Given the description of an element on the screen output the (x, y) to click on. 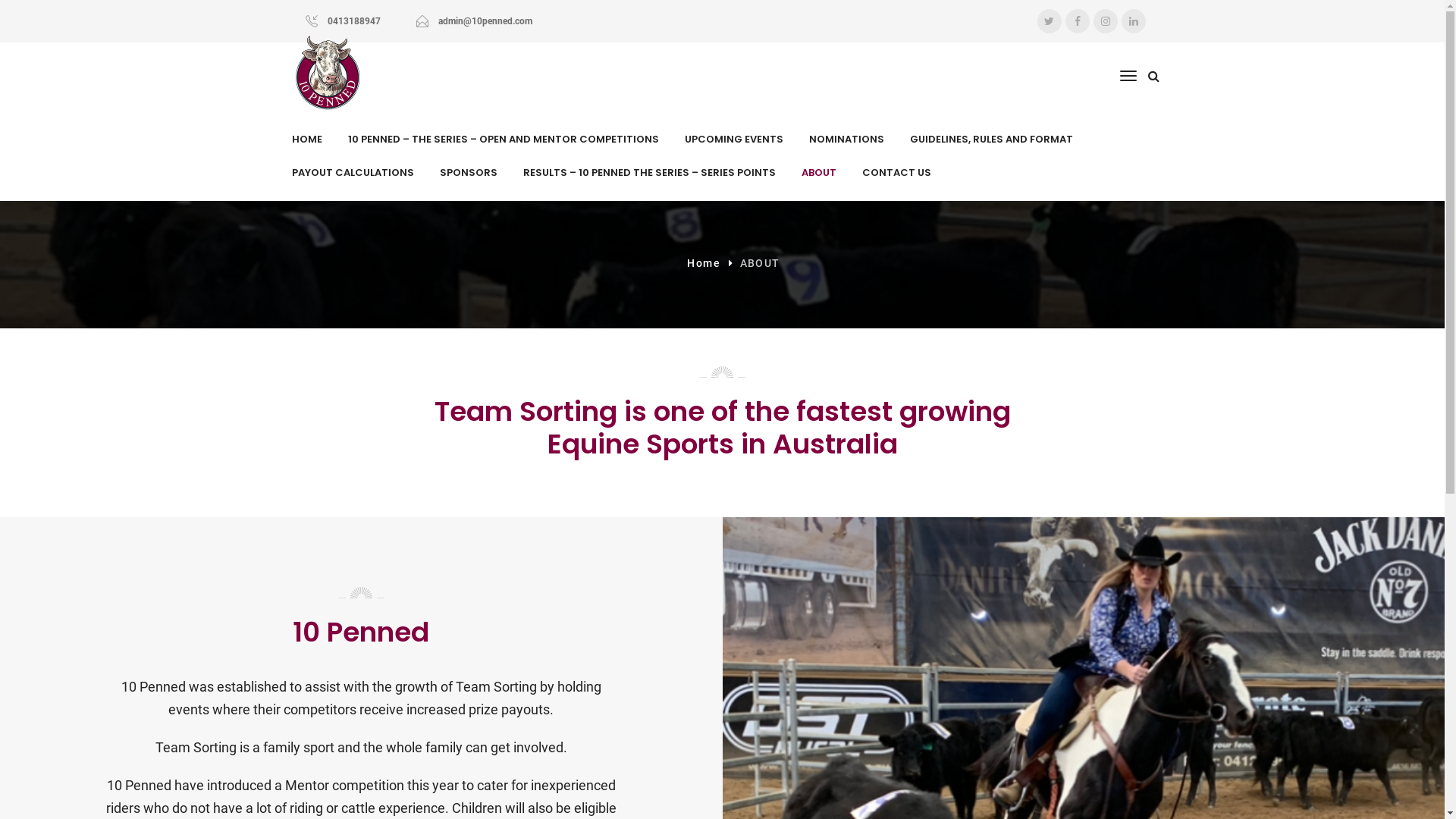
ABOUT Element type: text (817, 172)
Home Element type: text (703, 263)
PAYOUT CALCULATIONS Element type: text (352, 172)
NOMINATIONS Element type: text (845, 139)
0413188947 Element type: text (353, 20)
SPONSORS Element type: text (468, 172)
admin@10penned.com Element type: text (485, 20)
UPCOMING EVENTS Element type: text (732, 139)
GUIDELINES, RULES AND FORMAT Element type: text (991, 139)
HOME Element type: text (306, 139)
CONTACT US Element type: text (895, 172)
